Given the description of an element on the screen output the (x, y) to click on. 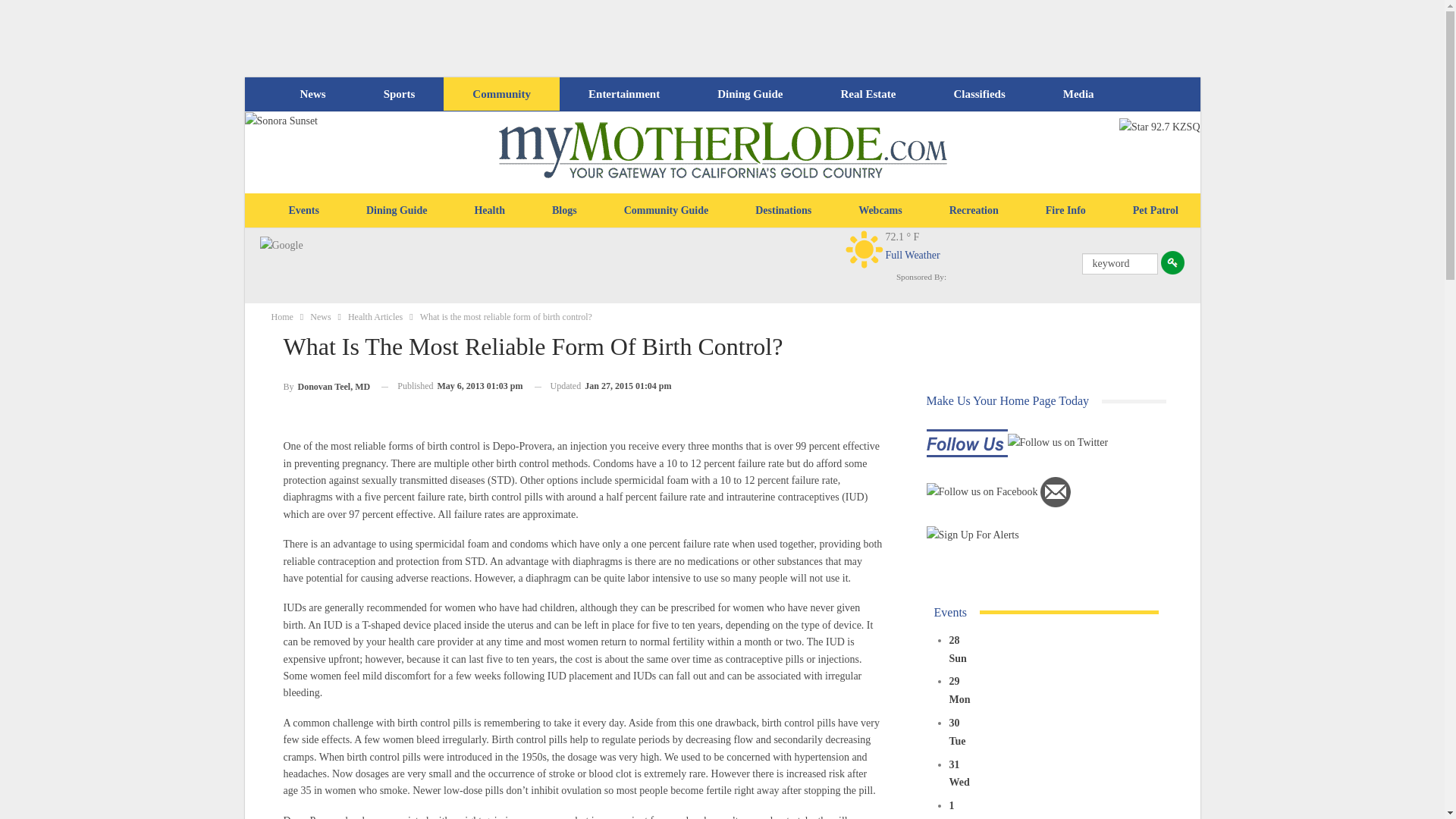
Browse Author Articles (327, 385)
Classifieds (979, 93)
Dining Guide (749, 93)
Health (488, 210)
Recreation (973, 210)
Events (303, 210)
Webcams (880, 210)
Sports (399, 93)
Pet Patrol (1155, 210)
Destinations (783, 210)
Entertainment (624, 93)
Dining Guide (397, 210)
